Given the description of an element on the screen output the (x, y) to click on. 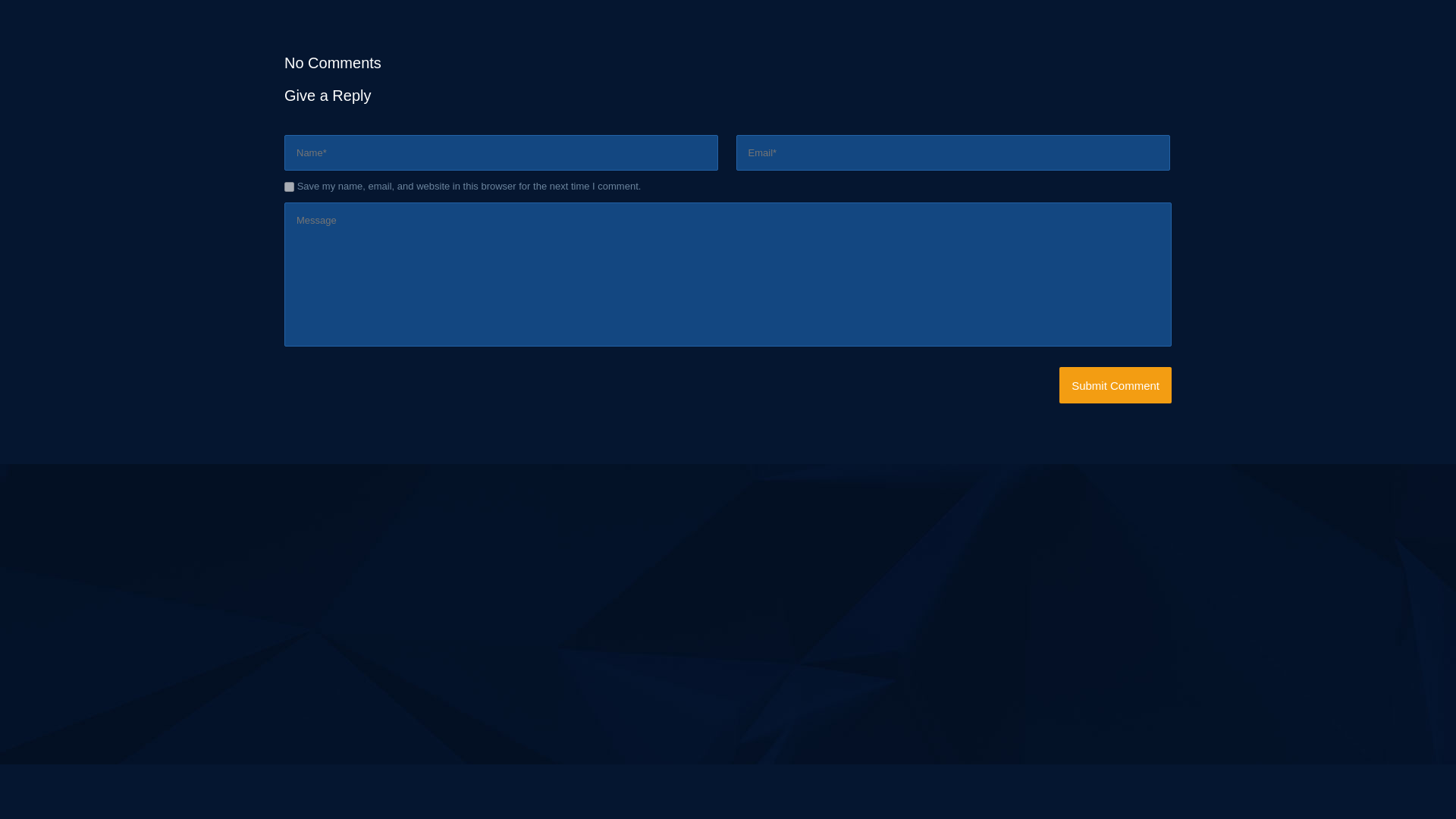
Submit Comment (1115, 384)
